Given the description of an element on the screen output the (x, y) to click on. 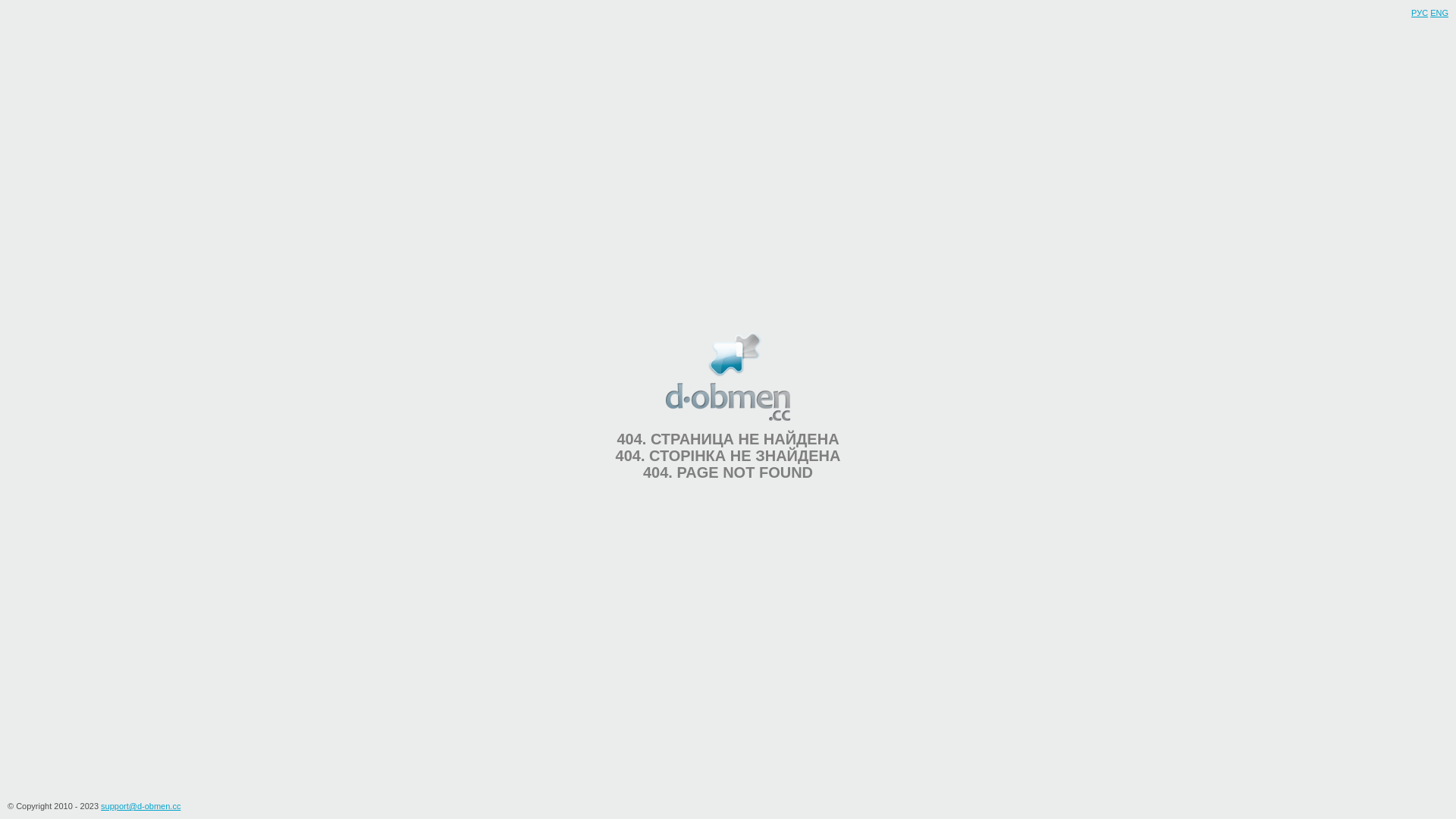
support@d-obmen.cc Element type: text (140, 805)
ENG Element type: text (1439, 12)
